Given the description of an element on the screen output the (x, y) to click on. 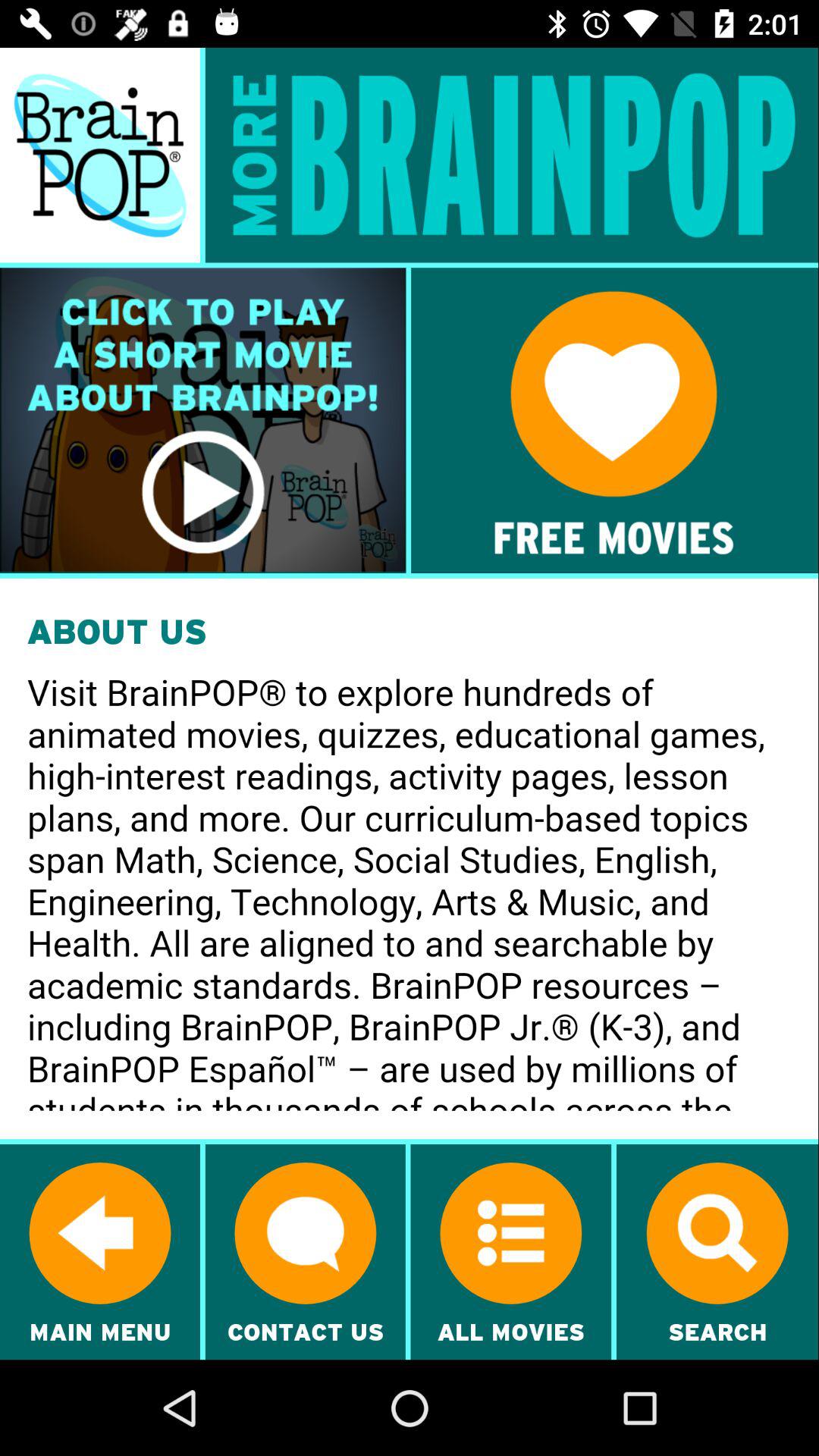
click for movie (203, 420)
